Given the description of an element on the screen output the (x, y) to click on. 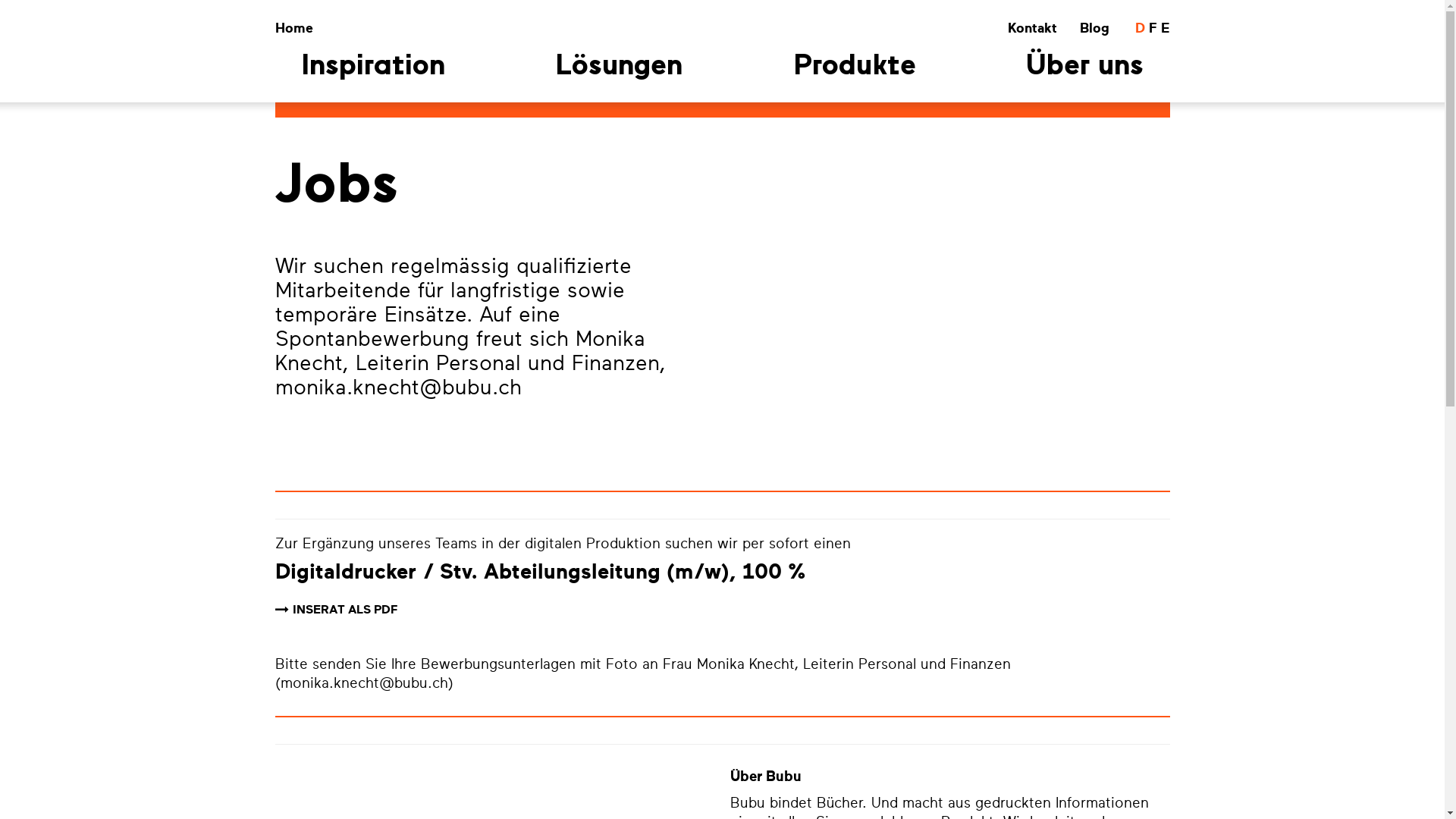
monika.knecht@bubu.ch Element type: text (364, 682)
monika.knecht@bubu.ch Element type: text (397, 387)
Kontakt Element type: text (1032, 31)
E Element type: text (1164, 31)
INSERAT ALS PDF Element type: text (344, 609)
Inspiration Element type: text (372, 76)
D Element type: text (1139, 31)
Blog Element type: text (1093, 31)
F Element type: text (1152, 31)
Produkte Element type: text (853, 76)
Home Element type: text (293, 27)
